Given the description of an element on the screen output the (x, y) to click on. 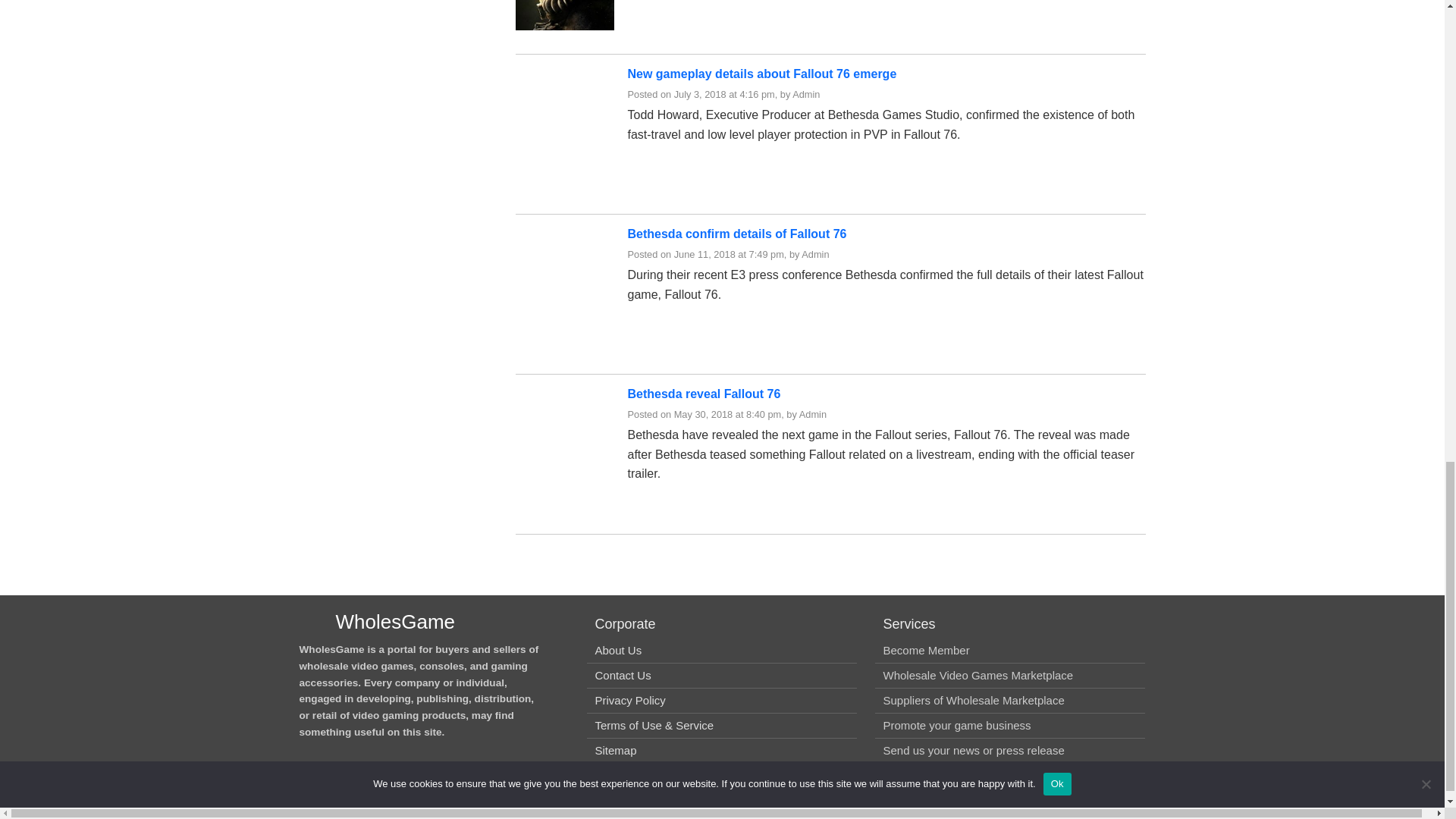
About Us (618, 649)
